Given the description of an element on the screen output the (x, y) to click on. 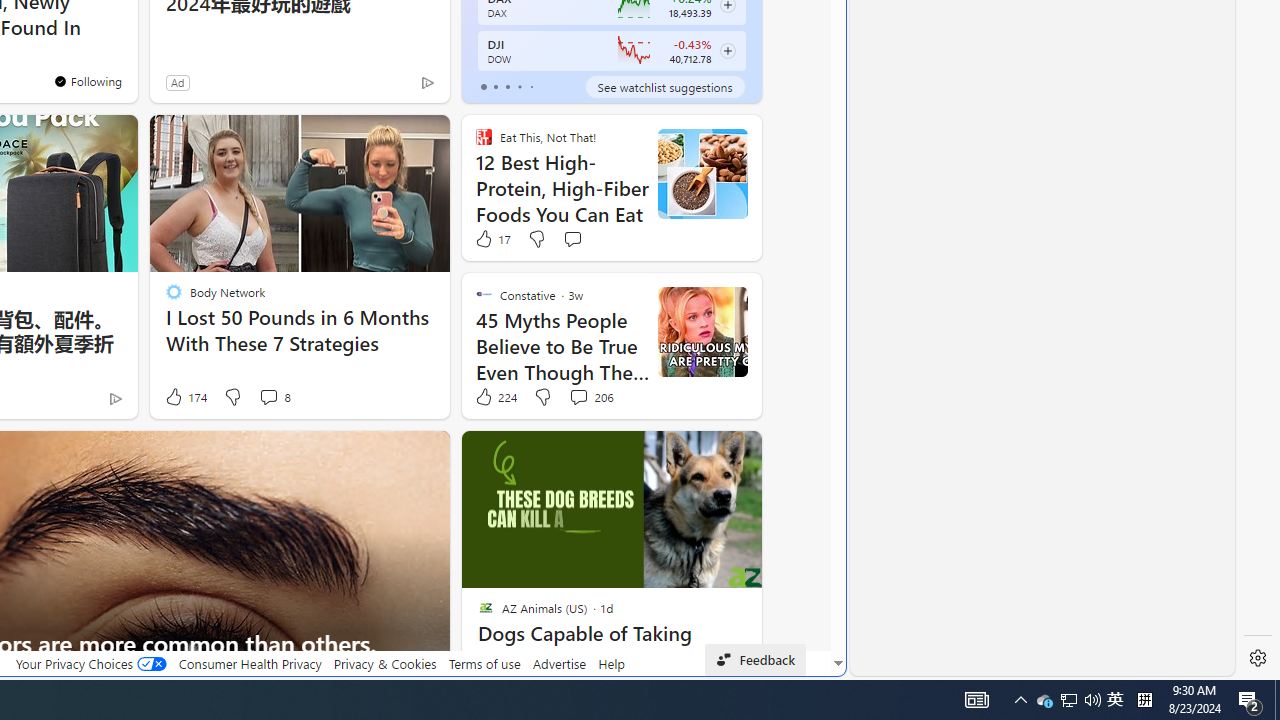
Start the conversation (572, 238)
Terms of use (484, 663)
Ad Choice (114, 398)
Consumer Health Privacy (249, 663)
View comments 206 Comment (578, 396)
View comments 206 Comment (591, 397)
224 Like (494, 397)
Ad (177, 82)
174 Like (184, 397)
tab-0 (483, 86)
17 Like (491, 238)
Start the conversation (571, 238)
Advertise (559, 663)
Help (610, 663)
